Given the description of an element on the screen output the (x, y) to click on. 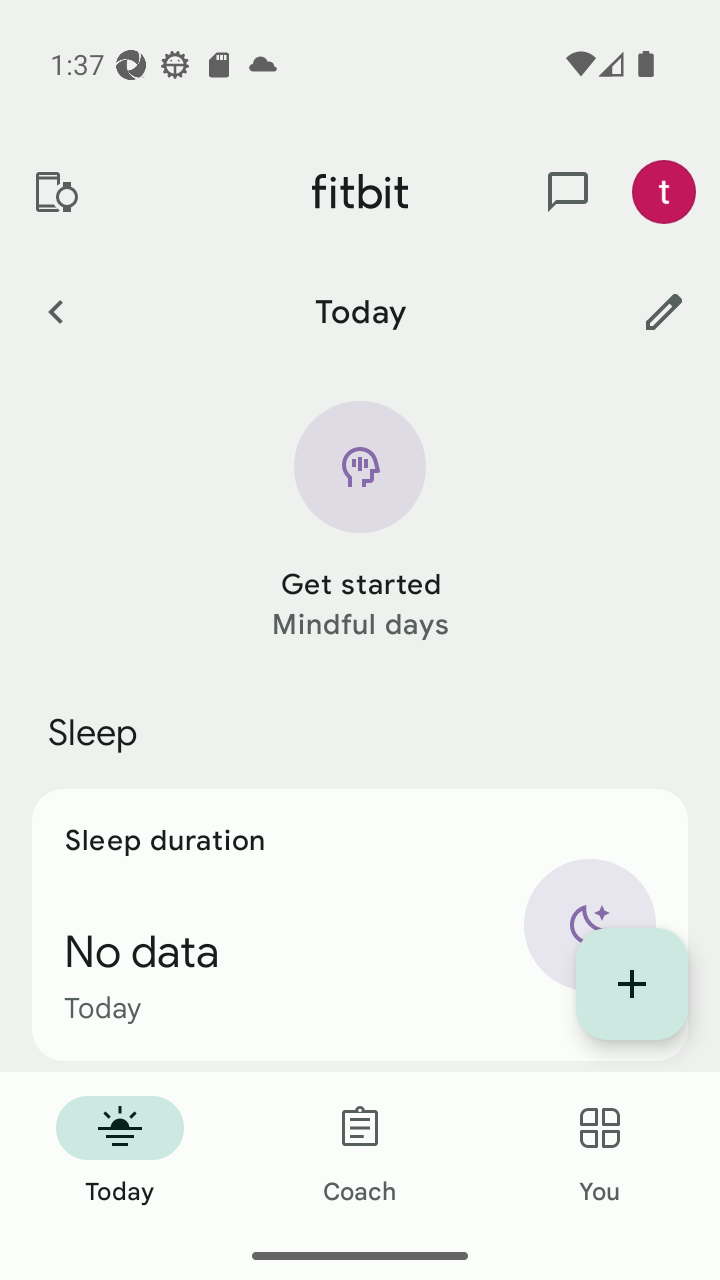
Devices and apps (55, 191)
messages and notifications (567, 191)
Previous Day (55, 311)
Customize (664, 311)
Mindfulness icon Get started Mindful days (360, 522)
Sleep duration No data Today Sleep static arc (359, 924)
Display list of quick log entries (632, 983)
Coach (359, 1151)
You (600, 1151)
